Given the description of an element on the screen output the (x, y) to click on. 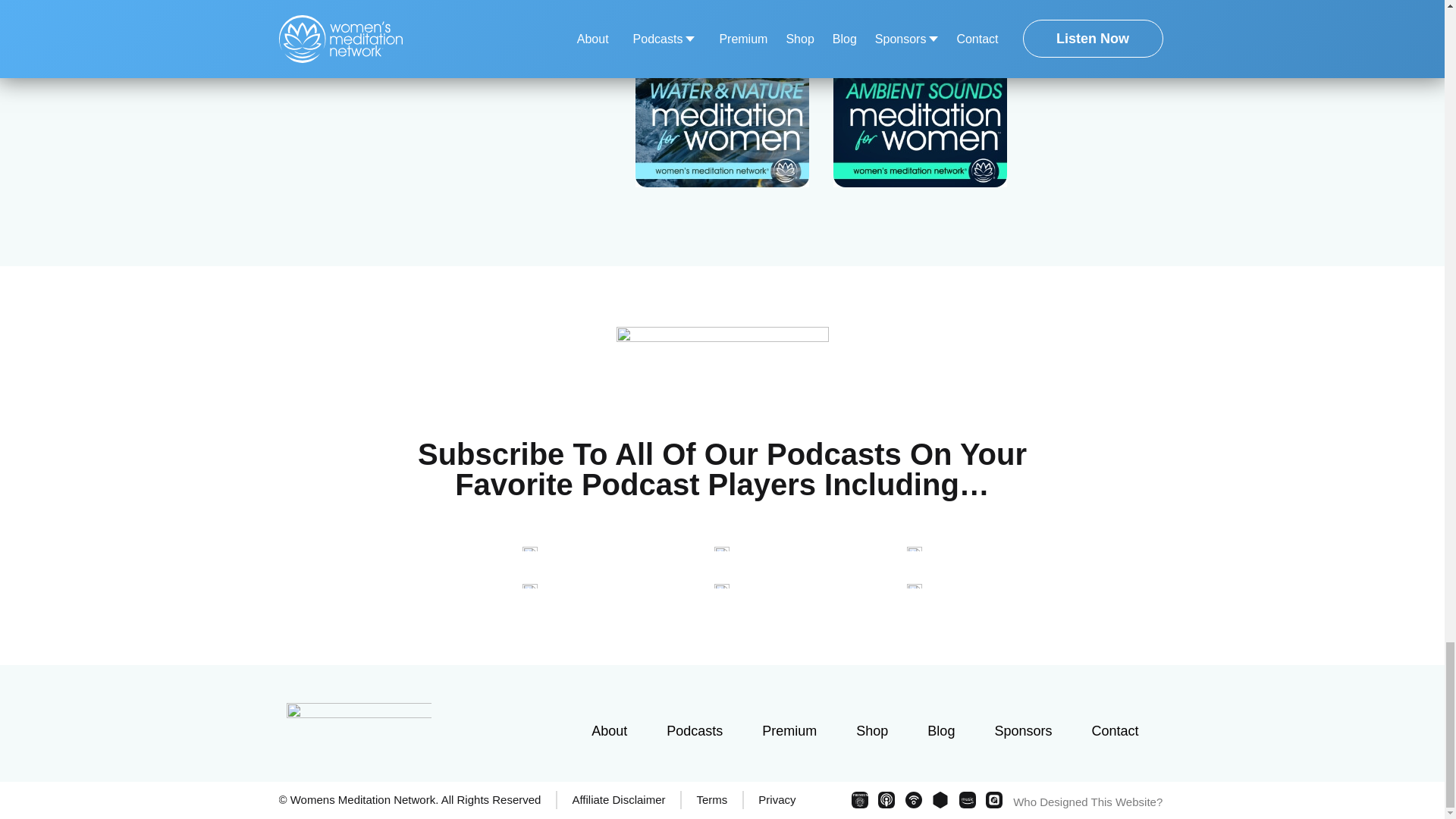
PREMIUM (859, 799)
